Given the description of an element on the screen output the (x, y) to click on. 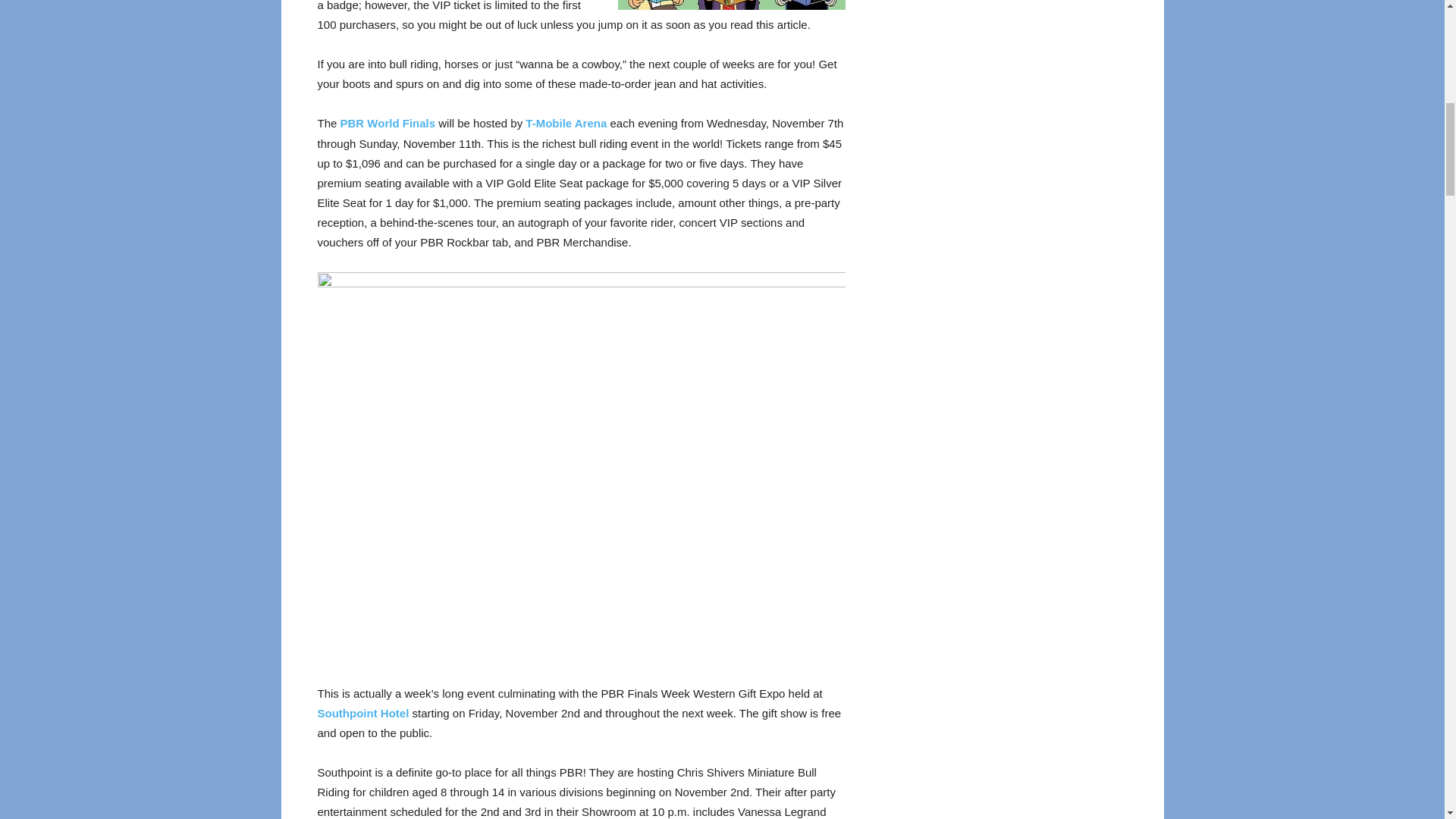
PBR World Finals (387, 123)
Southpoint Hotel (363, 712)
T-Mobile Arena (566, 123)
